Given the description of an element on the screen output the (x, y) to click on. 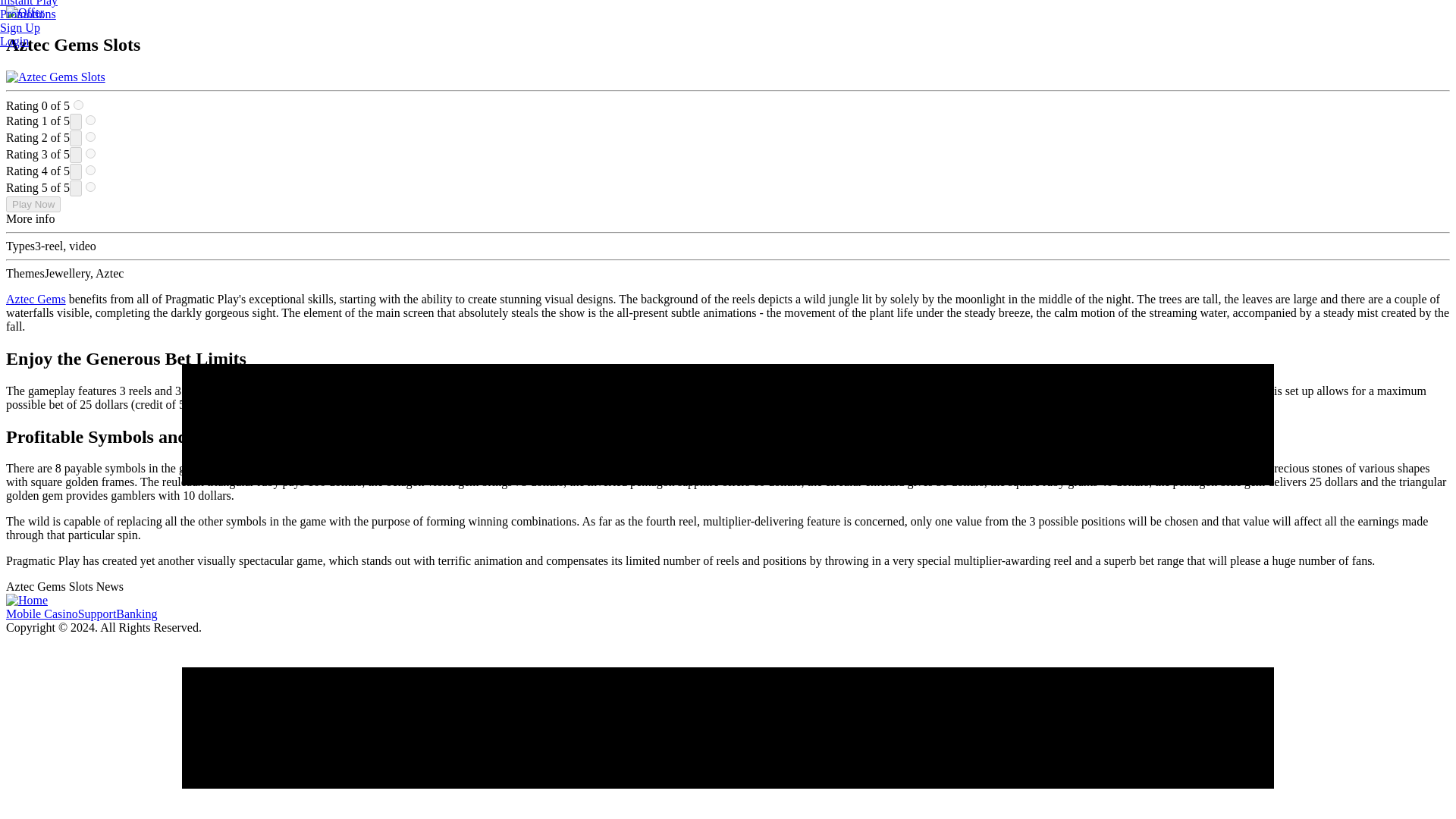
Aztec Gems (35, 298)
5 (90, 186)
Mobile Casino (41, 613)
4 (90, 170)
Play Now (33, 204)
0 (78, 104)
Banking (136, 613)
2 (90, 136)
1 (90, 120)
Support (97, 613)
3 (90, 153)
